Given the description of an element on the screen output the (x, y) to click on. 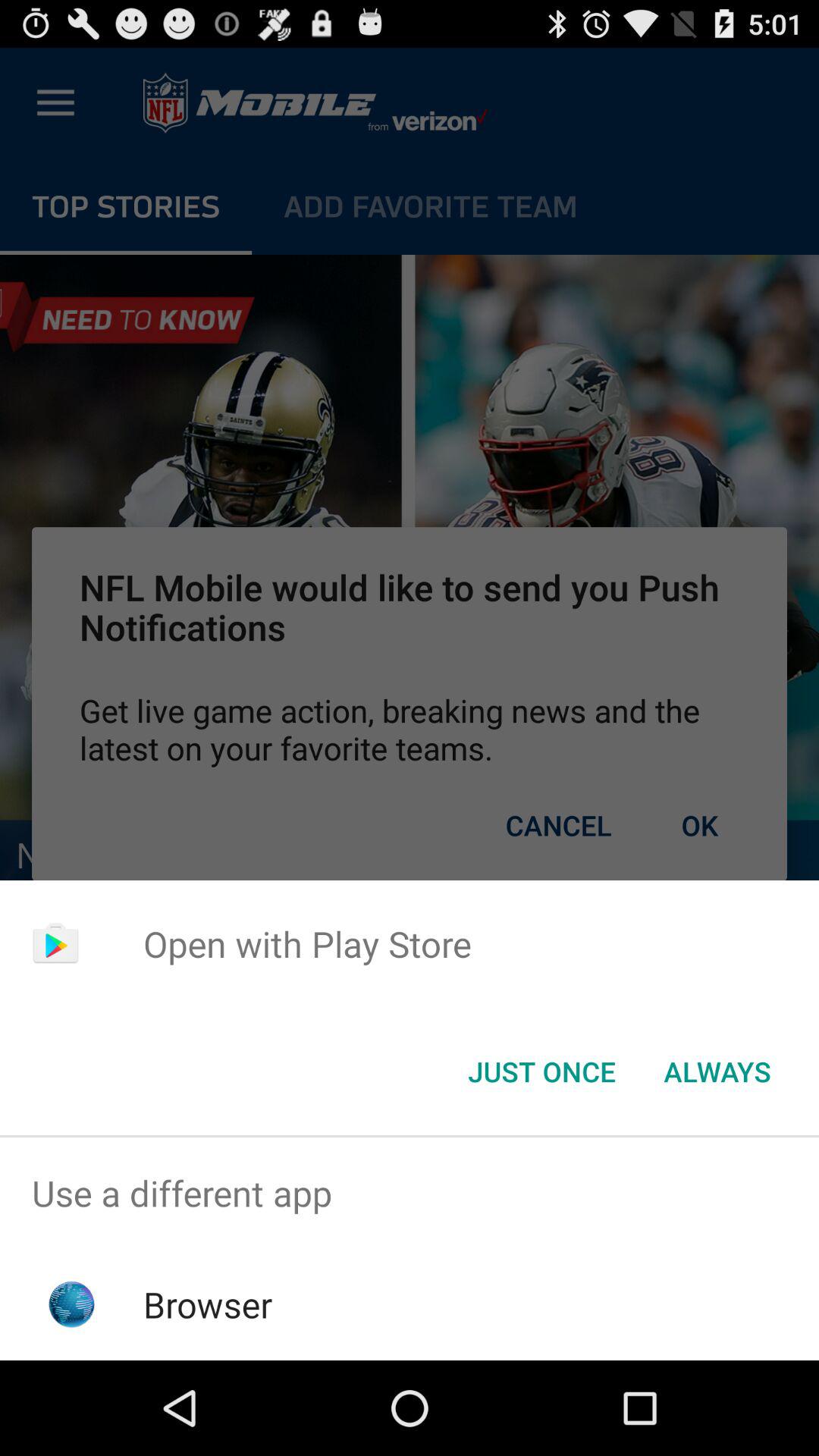
scroll to just once (541, 1071)
